Given the description of an element on the screen output the (x, y) to click on. 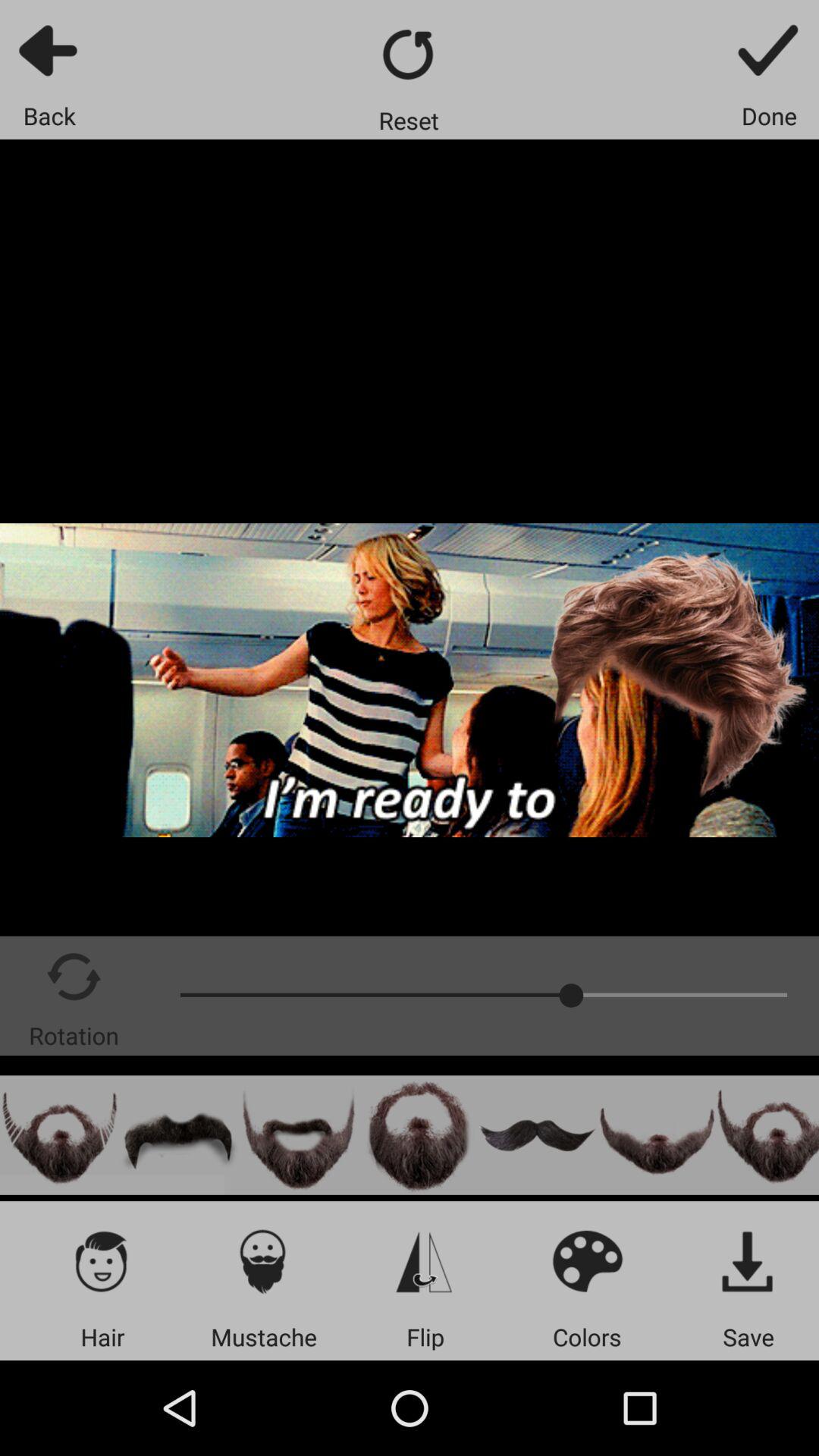
select beard (767, 1134)
